Given the description of an element on the screen output the (x, y) to click on. 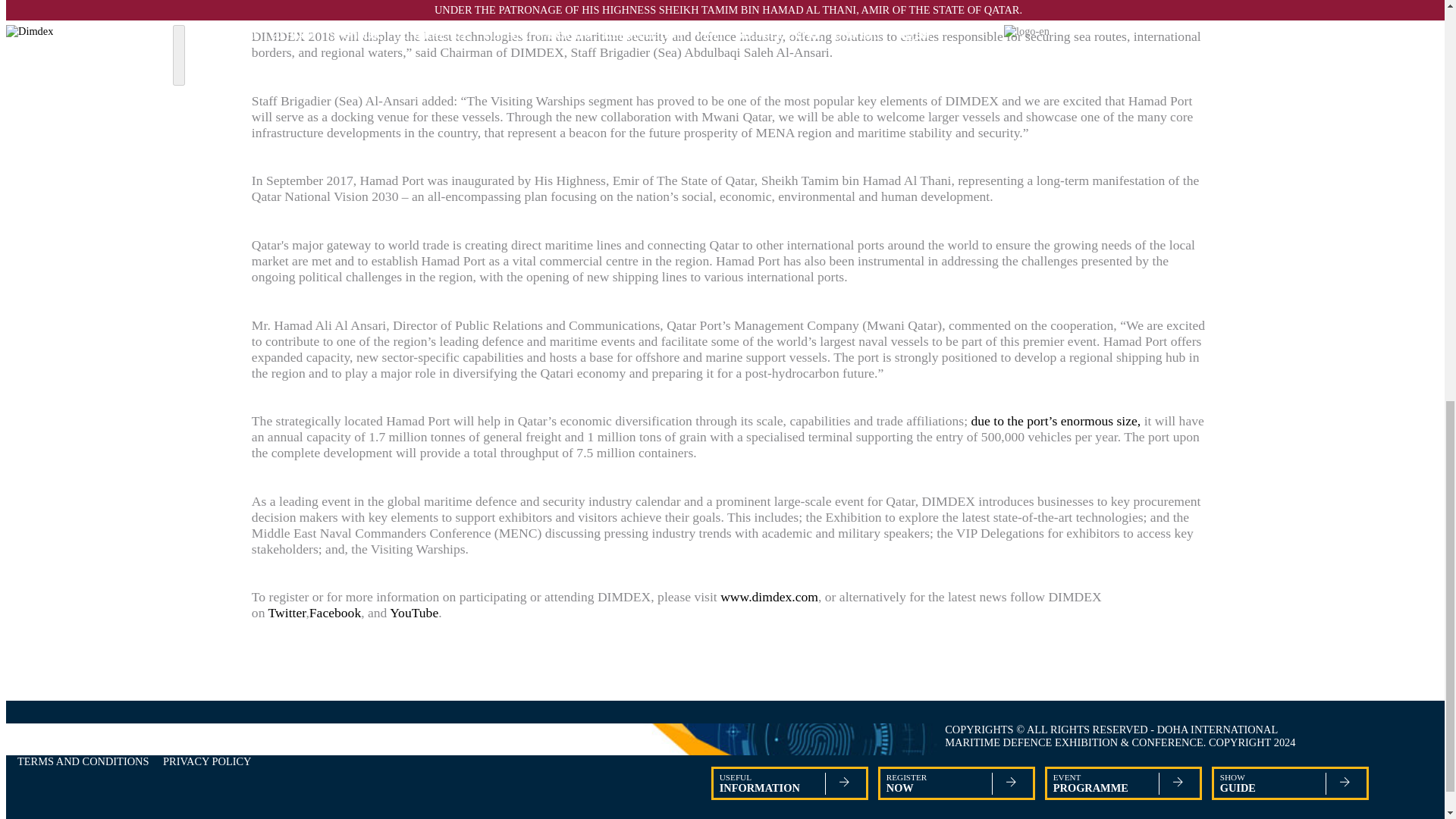
PRIVACY POLICY (783, 787)
Twitter (206, 761)
www.dimdex.com (286, 612)
Facebook (951, 787)
YouTube (769, 596)
TERMS AND CONDITIONS (1284, 787)
